Given the description of an element on the screen output the (x, y) to click on. 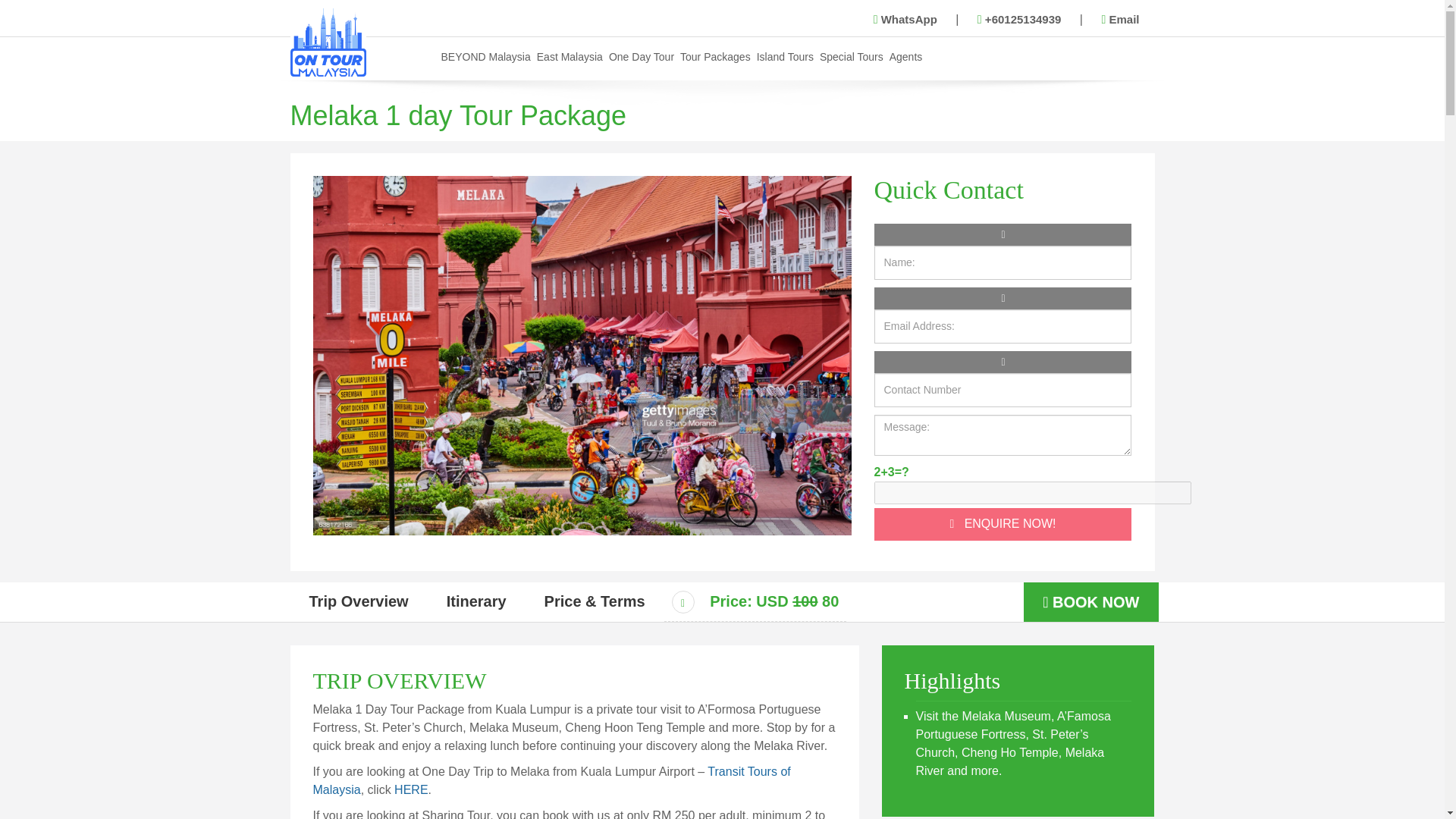
Email (1120, 20)
On Tour Malaysia (327, 41)
East Malaysia (569, 56)
WhatsApp (905, 20)
BEYOND Malaysia (486, 56)
BEYOND Malaysia (486, 56)
